Given the description of an element on the screen output the (x, y) to click on. 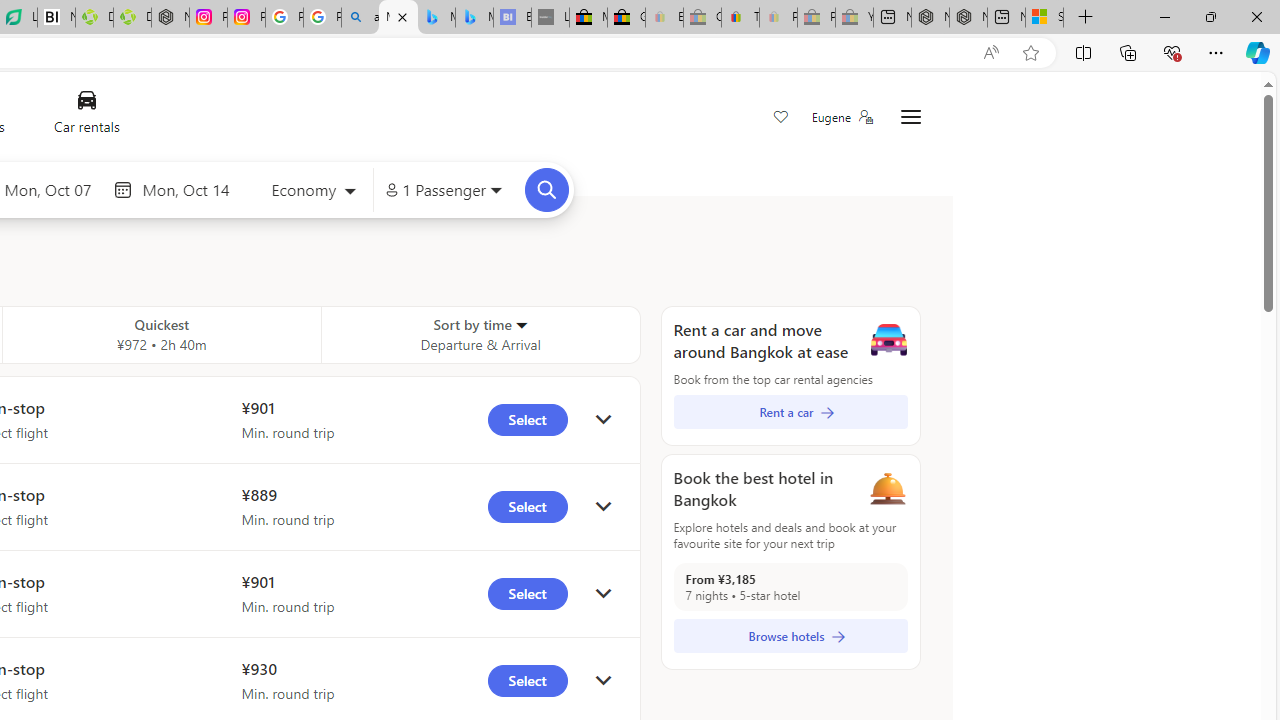
1 Passenger (443, 189)
Sorter (520, 324)
Car rentals (85, 116)
click to get details (603, 680)
alabama high school quarterback dies - Search (359, 17)
Save (780, 118)
Sort by time Sorter Departure & Arrival (480, 334)
Save (780, 118)
